Given the description of an element on the screen output the (x, y) to click on. 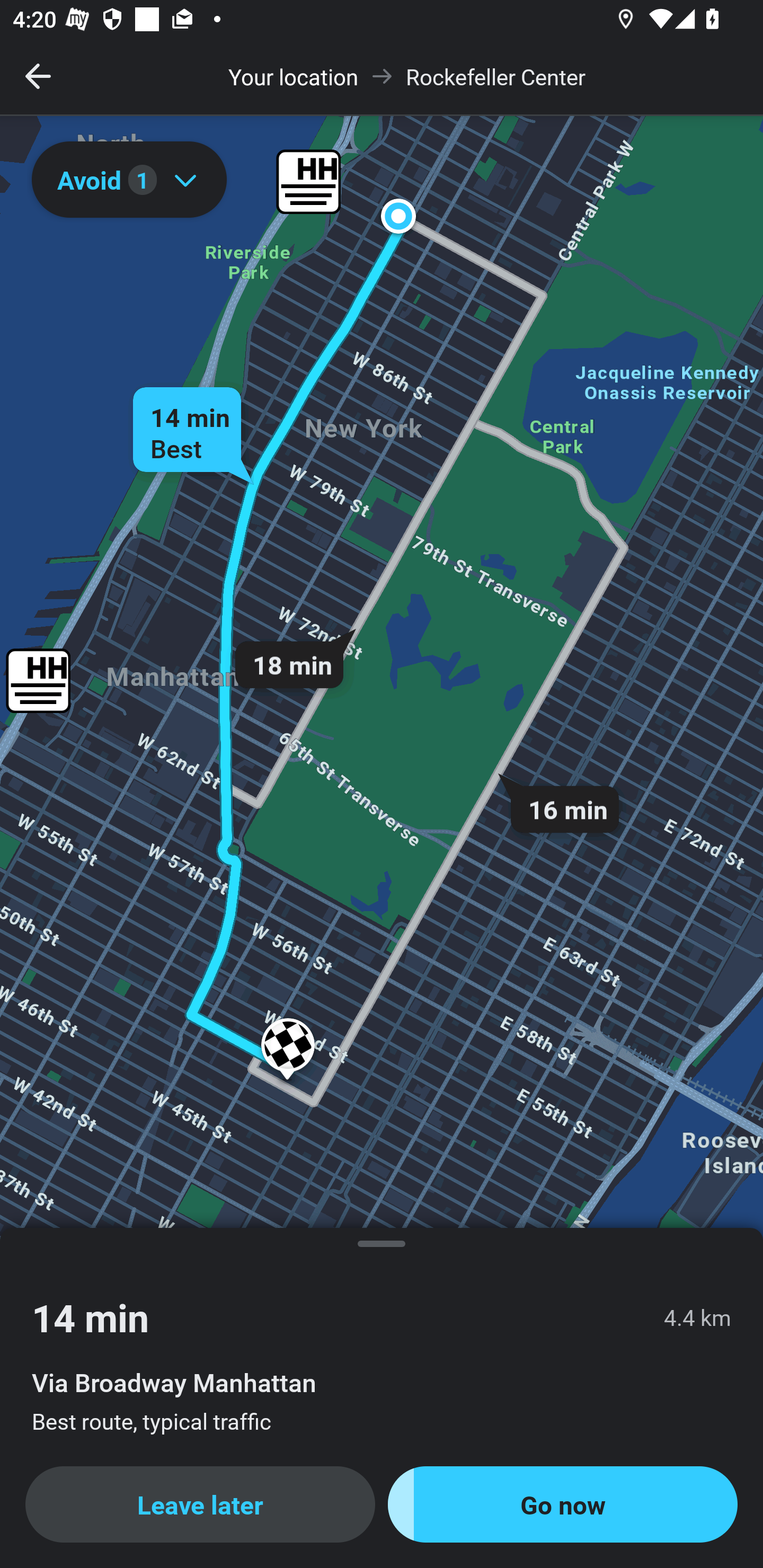
Leave later (200, 1504)
Go now (562, 1504)
